Given the description of an element on the screen output the (x, y) to click on. 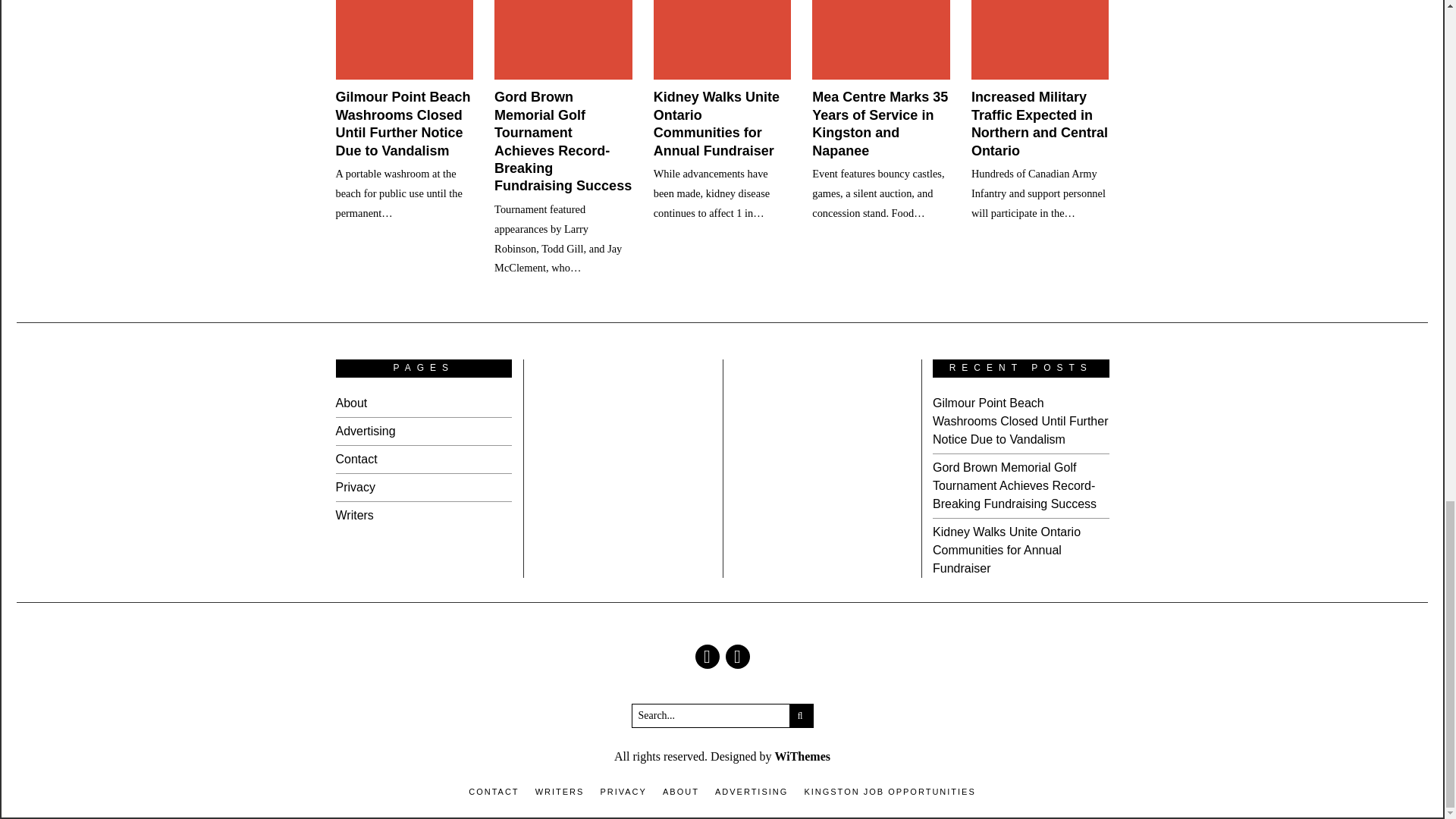
Mea Centre Marks 35 Years of Service in Kingston and Napanee (879, 123)
Kidney Walks Unite Ontario Communities for Annual Fundraiser (715, 123)
Writers (353, 514)
Twitter (737, 656)
Advertising (364, 431)
Privacy (354, 486)
